Given the description of an element on the screen output the (x, y) to click on. 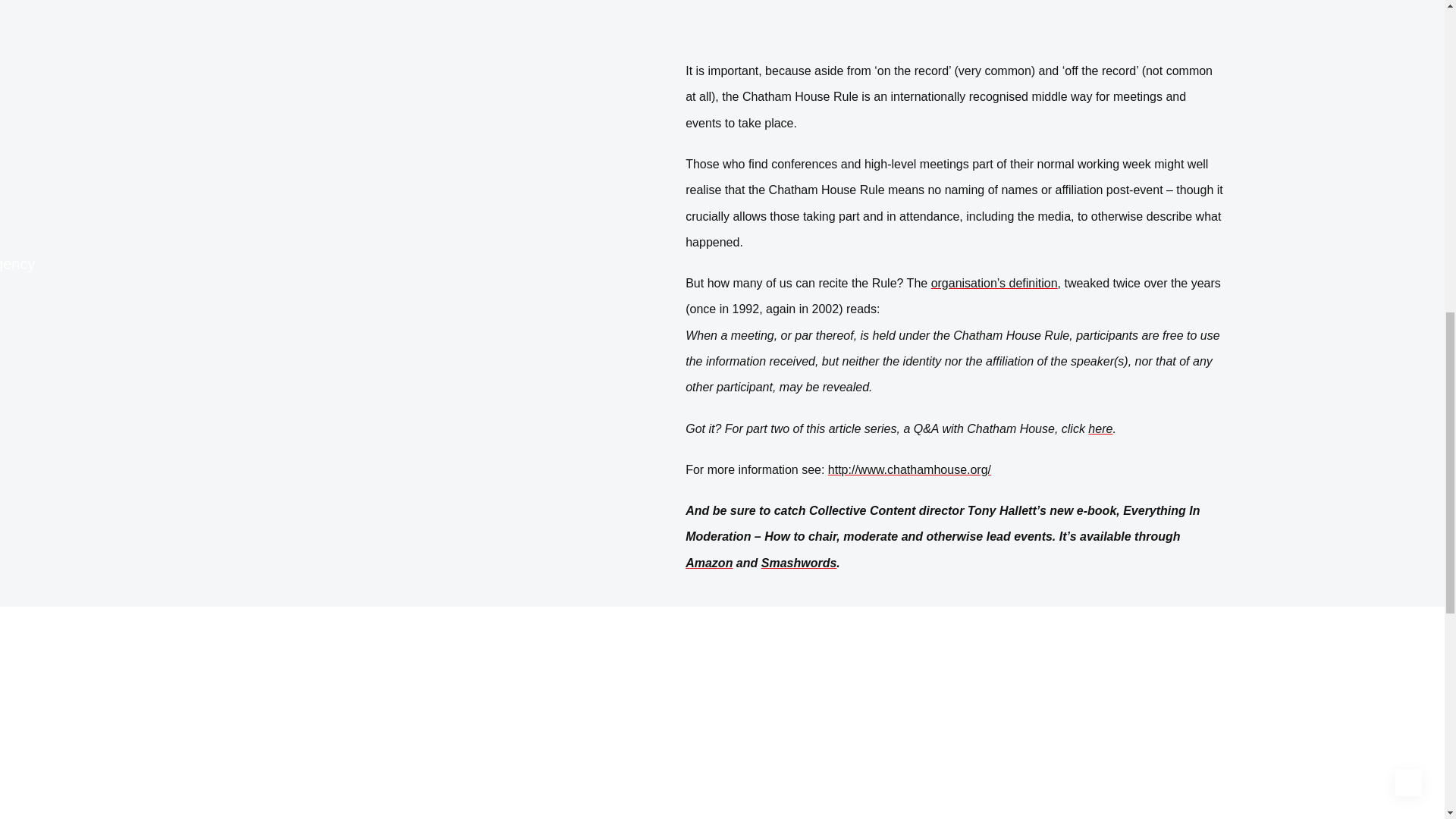
Smashwords (799, 562)
Amazon (708, 562)
Chatham House logo (954, 21)
Definition of the Chatham House Rule (994, 282)
here (1099, 428)
